Given the description of an element on the screen output the (x, y) to click on. 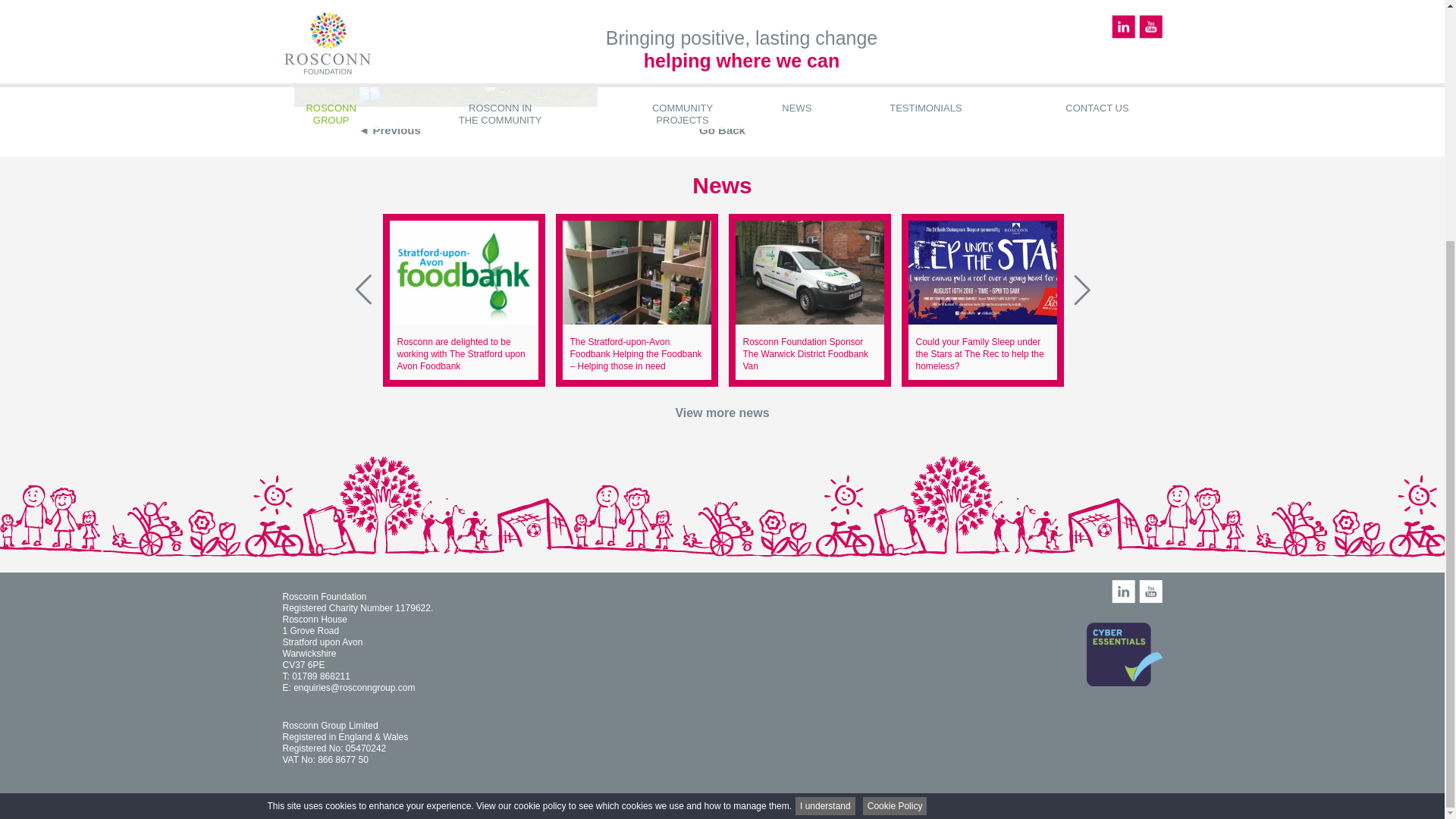
I understand (825, 473)
Rosconn Foundation Sponsor The Warwick District Foodbank Van (805, 353)
Go Back (721, 129)
Rosconn Foundation Sponsor The Warwick District Foodbank Van (809, 272)
Rosconn Foundation Sponsor The Warwick District Foodbank Van (805, 353)
Cookie Policy (895, 473)
